Given the description of an element on the screen output the (x, y) to click on. 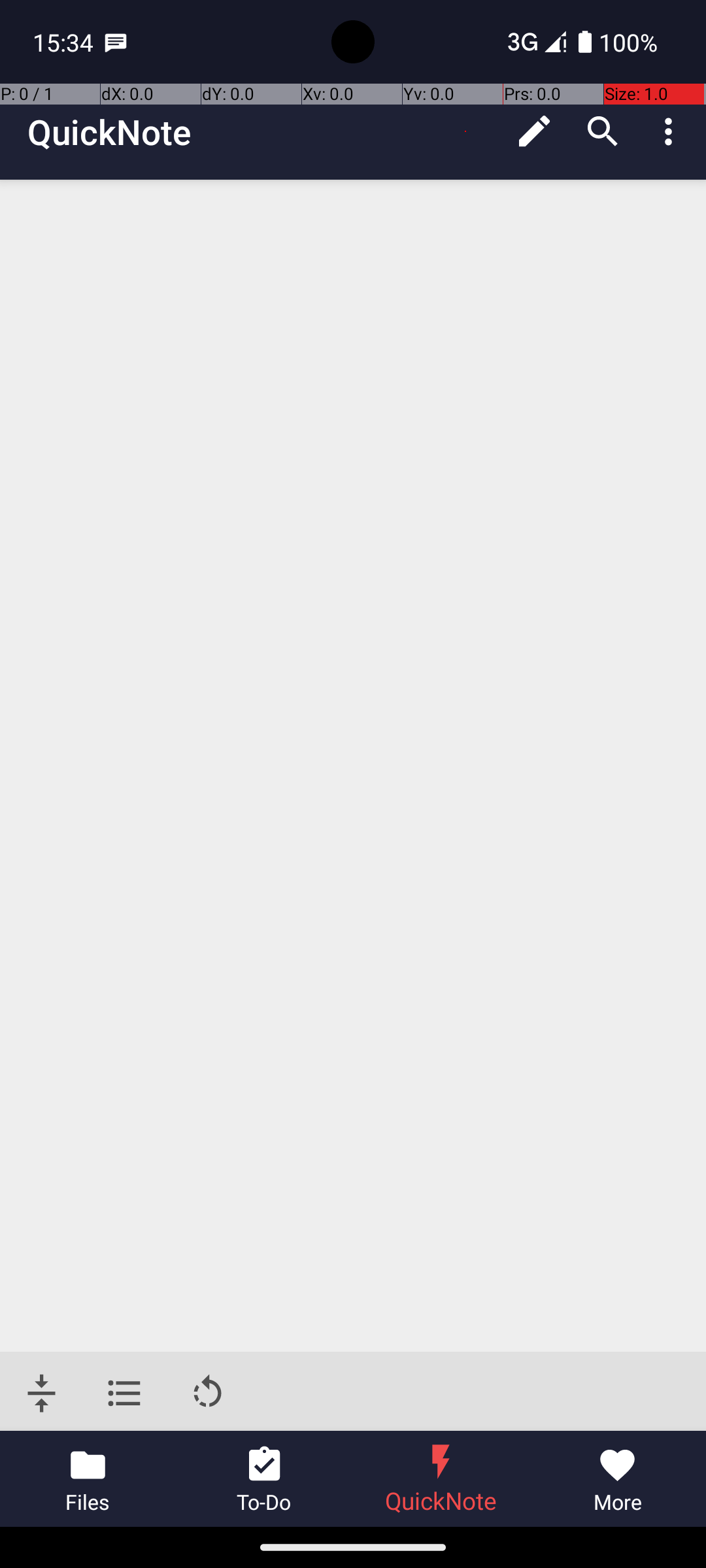
QuickNote Element type: android.widget.TextView (108, 131)
Edit mode Element type: android.widget.TextView (534, 131)
To-Do Element type: android.widget.FrameLayout (264, 1478)
Jump to bottom Element type: android.widget.ImageView (41, 1392)
Table of contents Element type: android.widget.ImageView (124, 1392)
Rotate Element type: android.widget.ImageView (207, 1392)
